Given the description of an element on the screen output the (x, y) to click on. 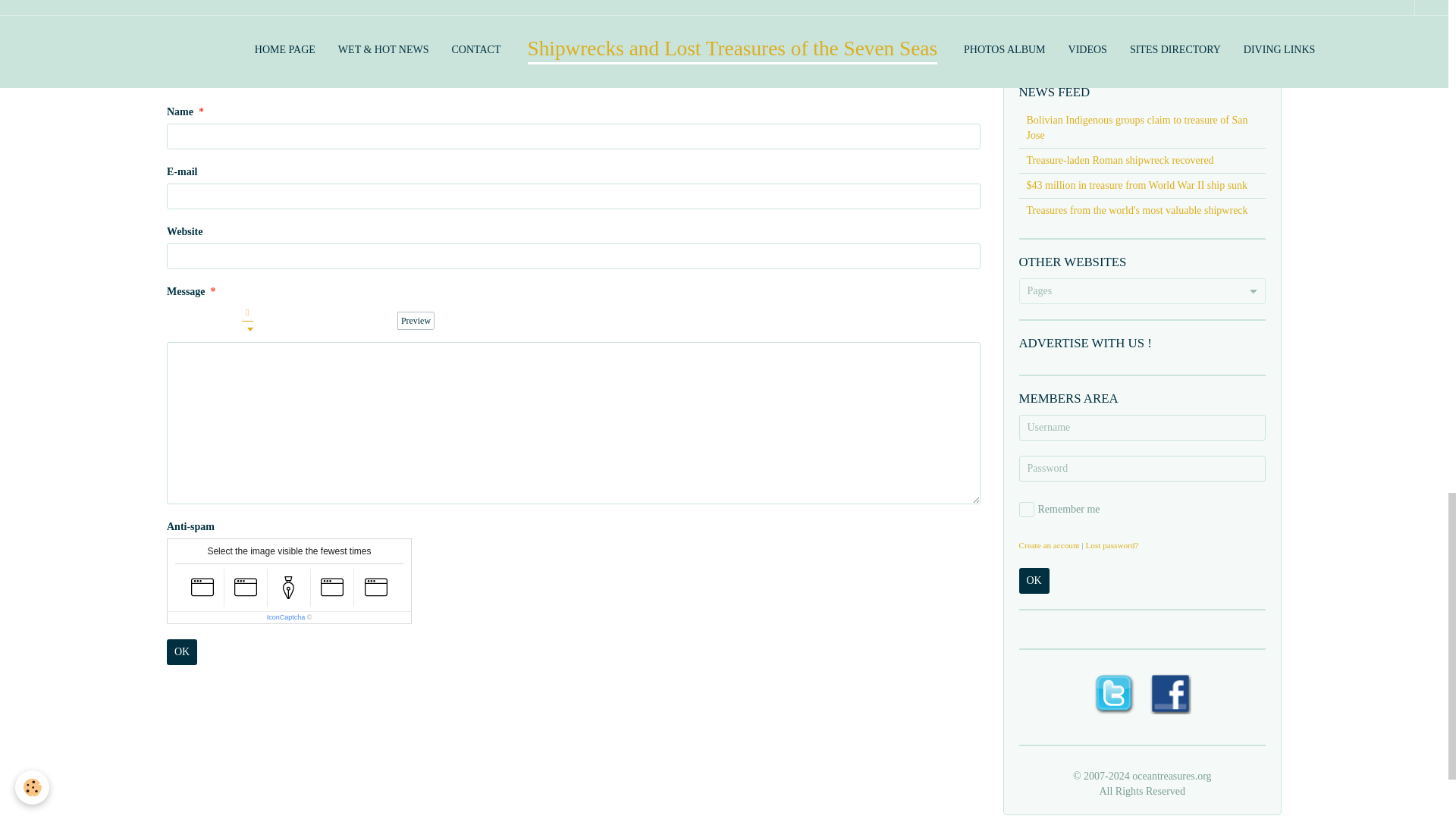
Underline (210, 320)
Link (301, 320)
Video (353, 320)
Share (180, 13)
Twitter (234, 13)
Hidden text (319, 320)
Text color (247, 320)
Text center (284, 320)
Image (336, 320)
Italics (193, 320)
Facebook (207, 13)
Code (371, 320)
Quote (266, 320)
search (1100, 33)
Email (262, 13)
